Given the description of an element on the screen output the (x, y) to click on. 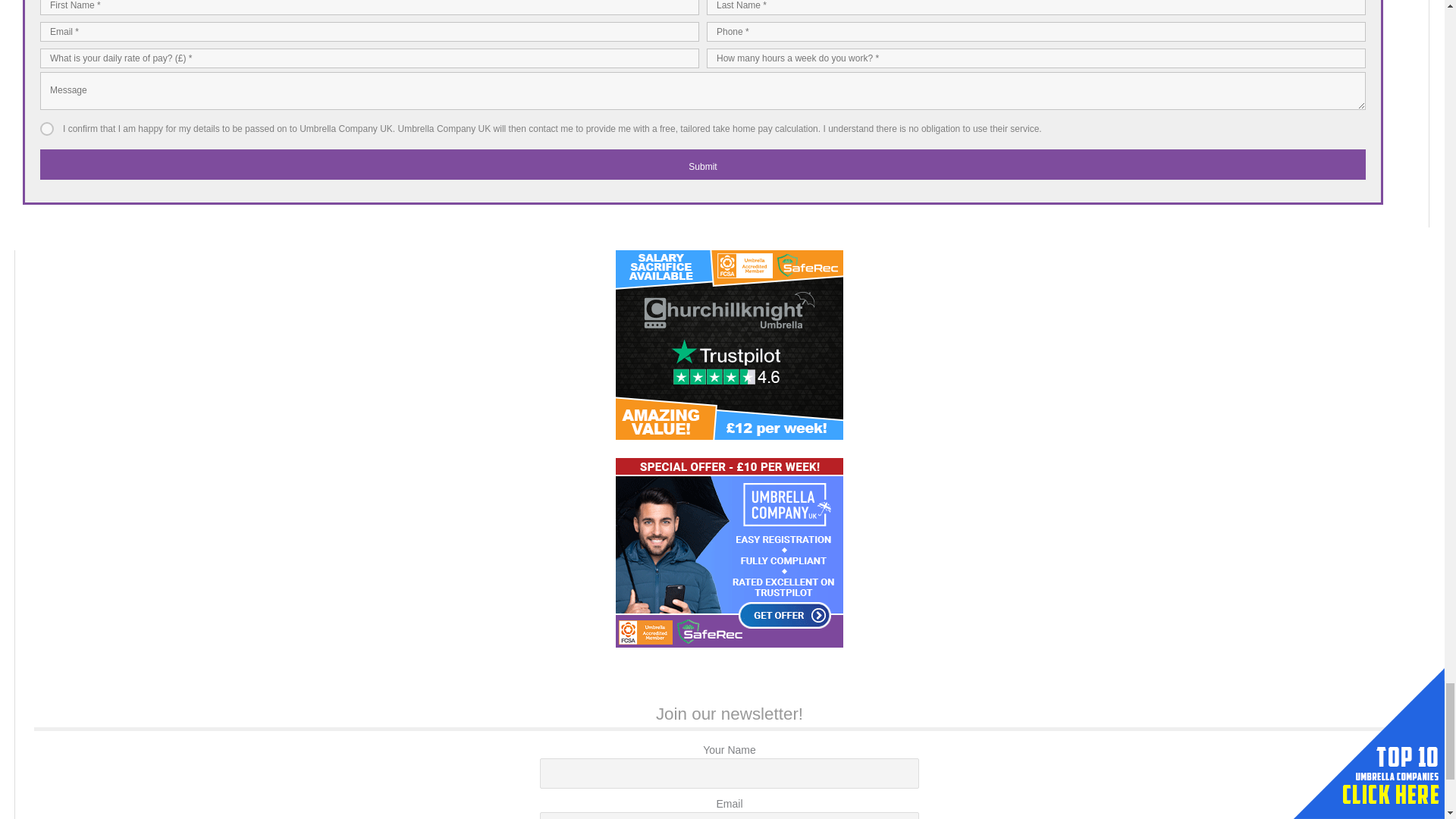
Submit (702, 164)
